Given the description of an element on the screen output the (x, y) to click on. 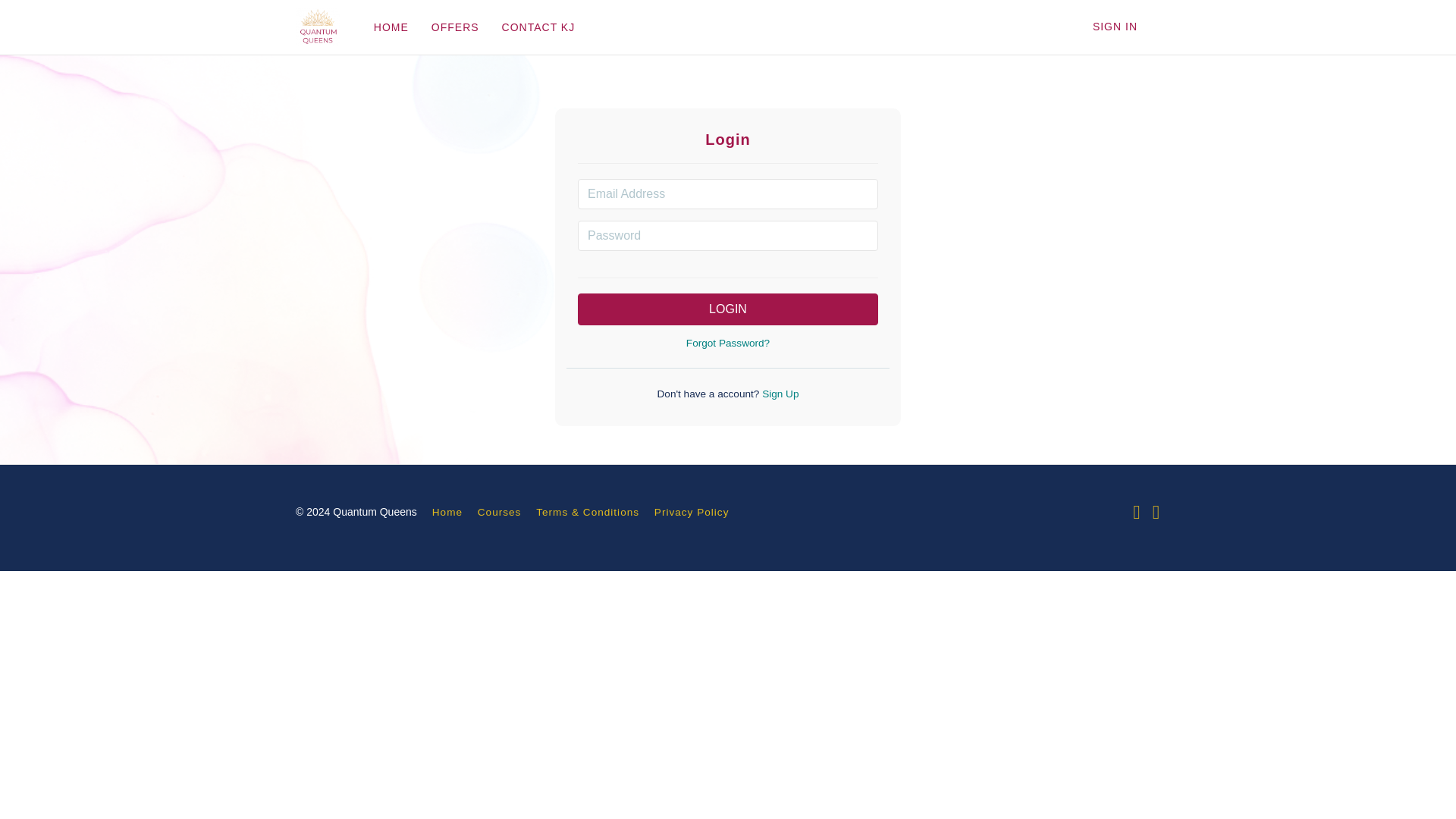
SIGN IN (1114, 26)
Courses (499, 511)
HOME (391, 27)
LOGIN (727, 309)
Home (447, 511)
Privacy Policy (691, 511)
Sign Up (777, 393)
OFFERS (455, 27)
Forgot Password? (727, 342)
CONTACT KJ (538, 27)
